Given the description of an element on the screen output the (x, y) to click on. 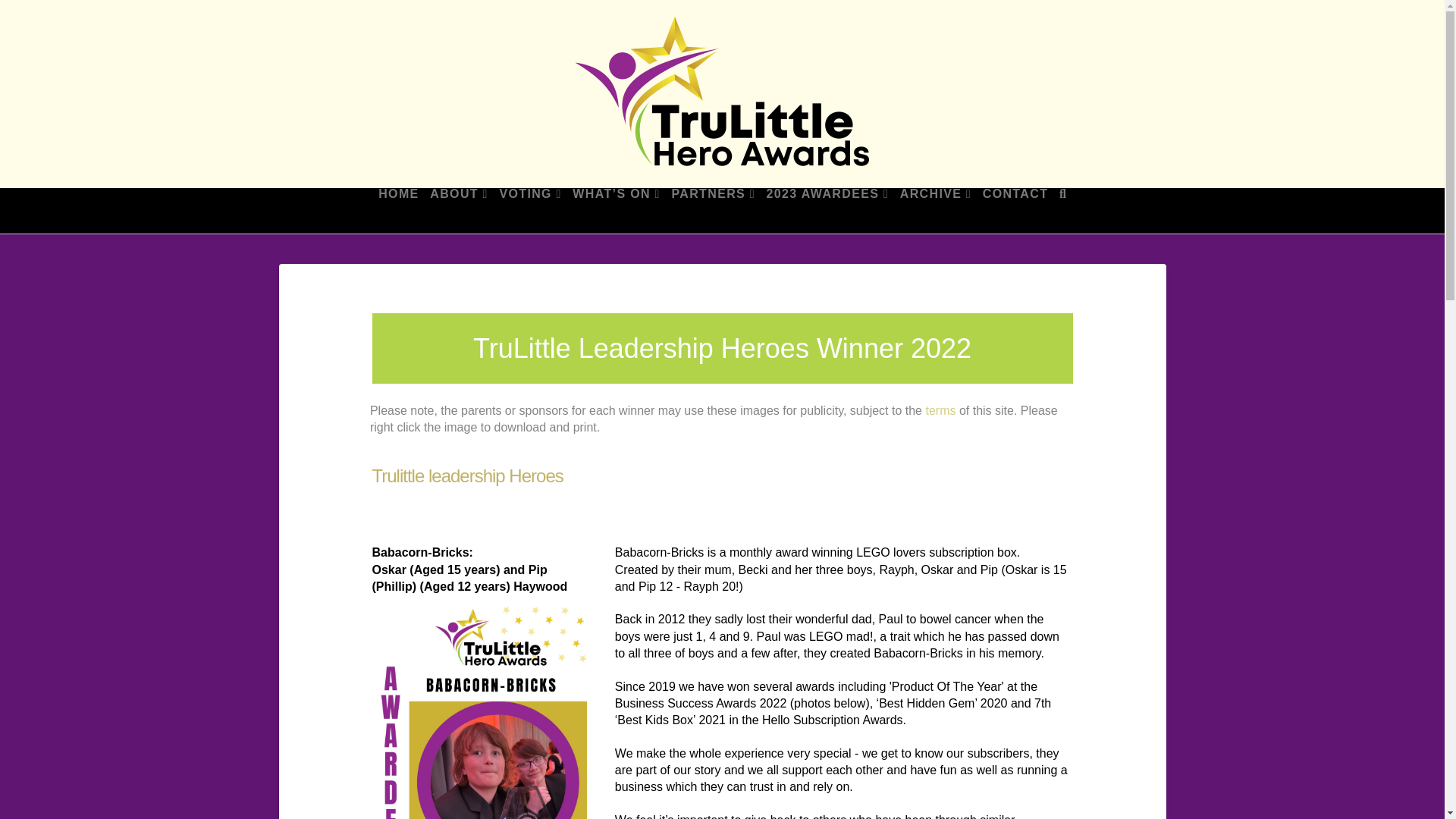
PARTNERS (712, 210)
ARCHIVE (934, 210)
HOME (397, 210)
ABOUT (458, 210)
2023 AWARDEES (826, 210)
VOTING (529, 210)
CONTACT (1014, 210)
